Given the description of an element on the screen output the (x, y) to click on. 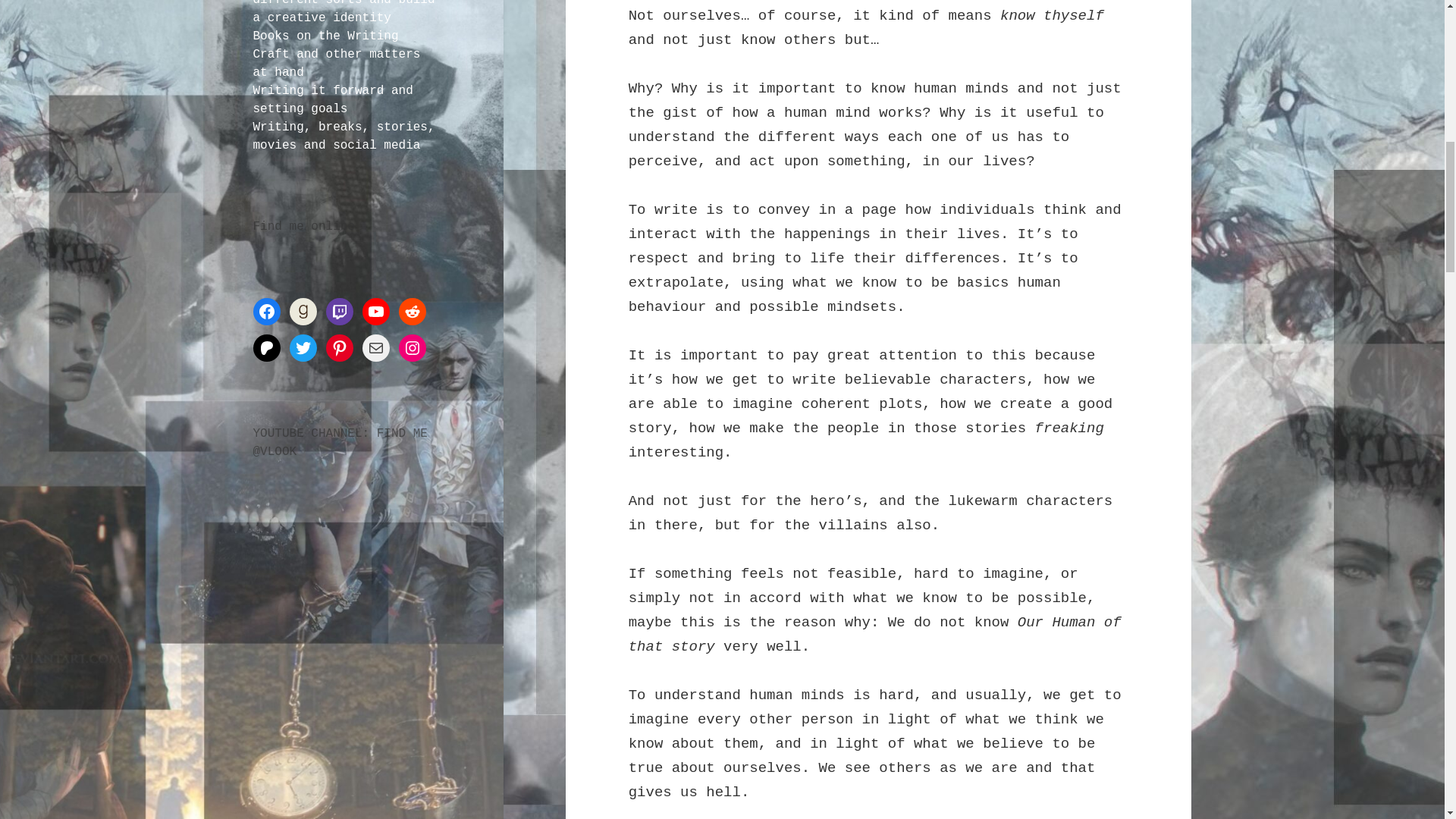
Twitter (303, 347)
Reddit (412, 311)
YouTube (376, 311)
Writing it forward and setting goals (333, 100)
Goodreads (303, 311)
Twitch (339, 311)
Books on the Writing Craft and other matters at hand (336, 54)
Patreon (267, 347)
Pinterest (339, 347)
